Given the description of an element on the screen output the (x, y) to click on. 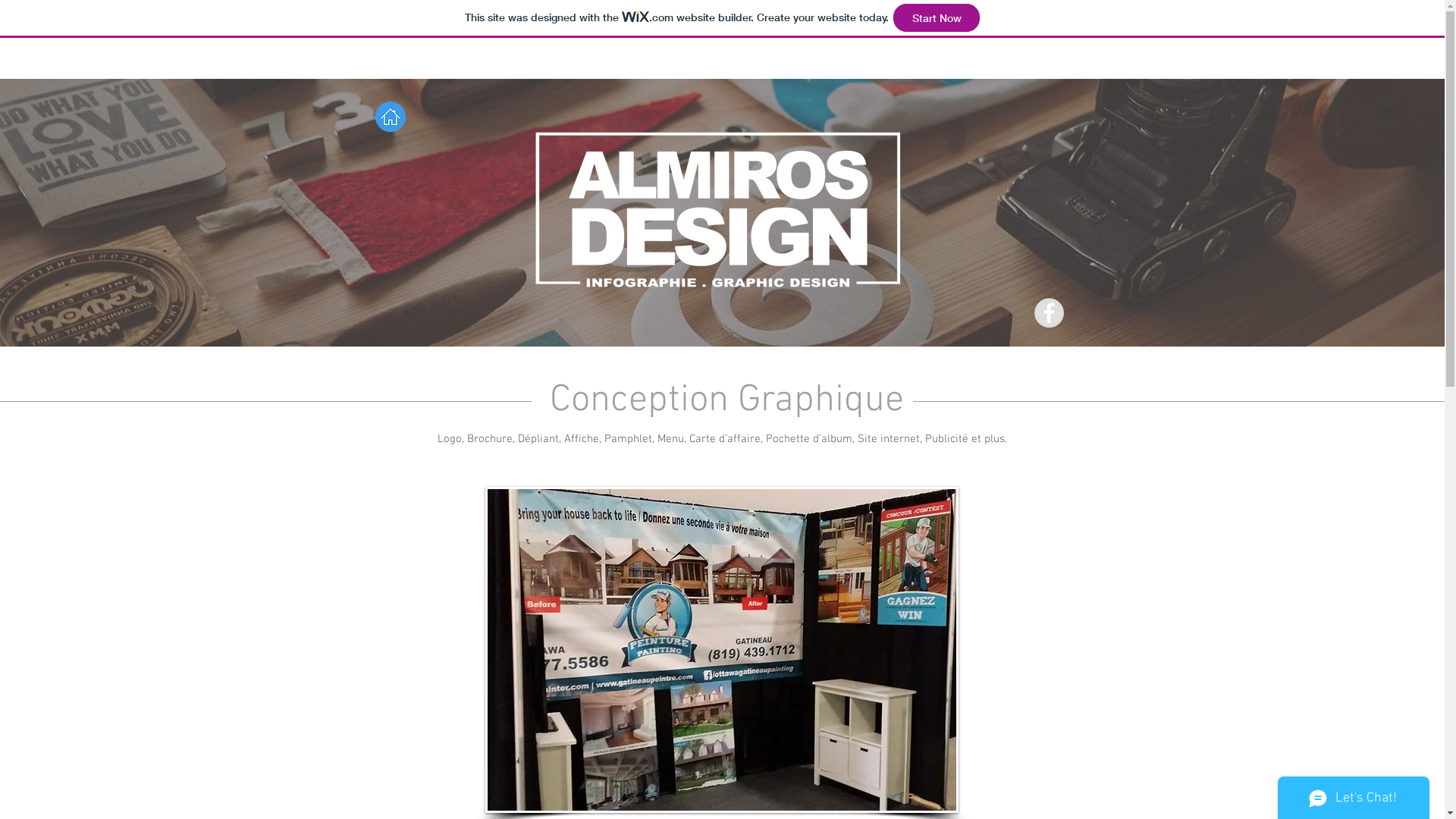
  Conception Graphique  Element type: text (721, 400)
